Given the description of an element on the screen output the (x, y) to click on. 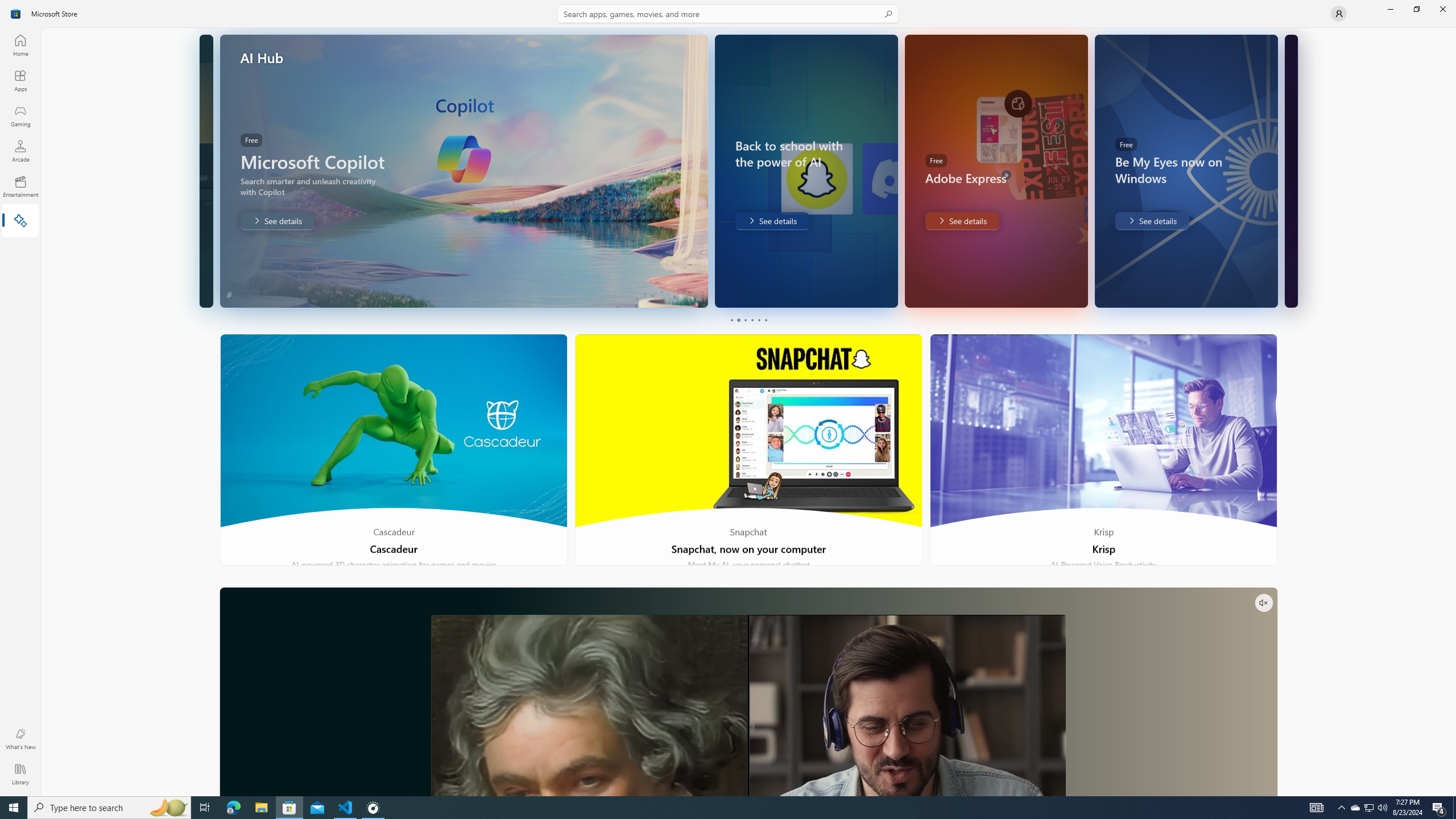
Library (20, 773)
Apps (20, 80)
Cascadeur (393, 449)
Page 3 (744, 319)
Arcade (20, 150)
Page 2 (738, 319)
AI Hub (20, 221)
User profile (1338, 13)
AutomationID: Image (1290, 170)
Page 5 (758, 319)
Home (20, 45)
Class: Image (15, 13)
Become anyone on Zoom, Twitch, or any streaming video (747, 691)
